Given the description of an element on the screen output the (x, y) to click on. 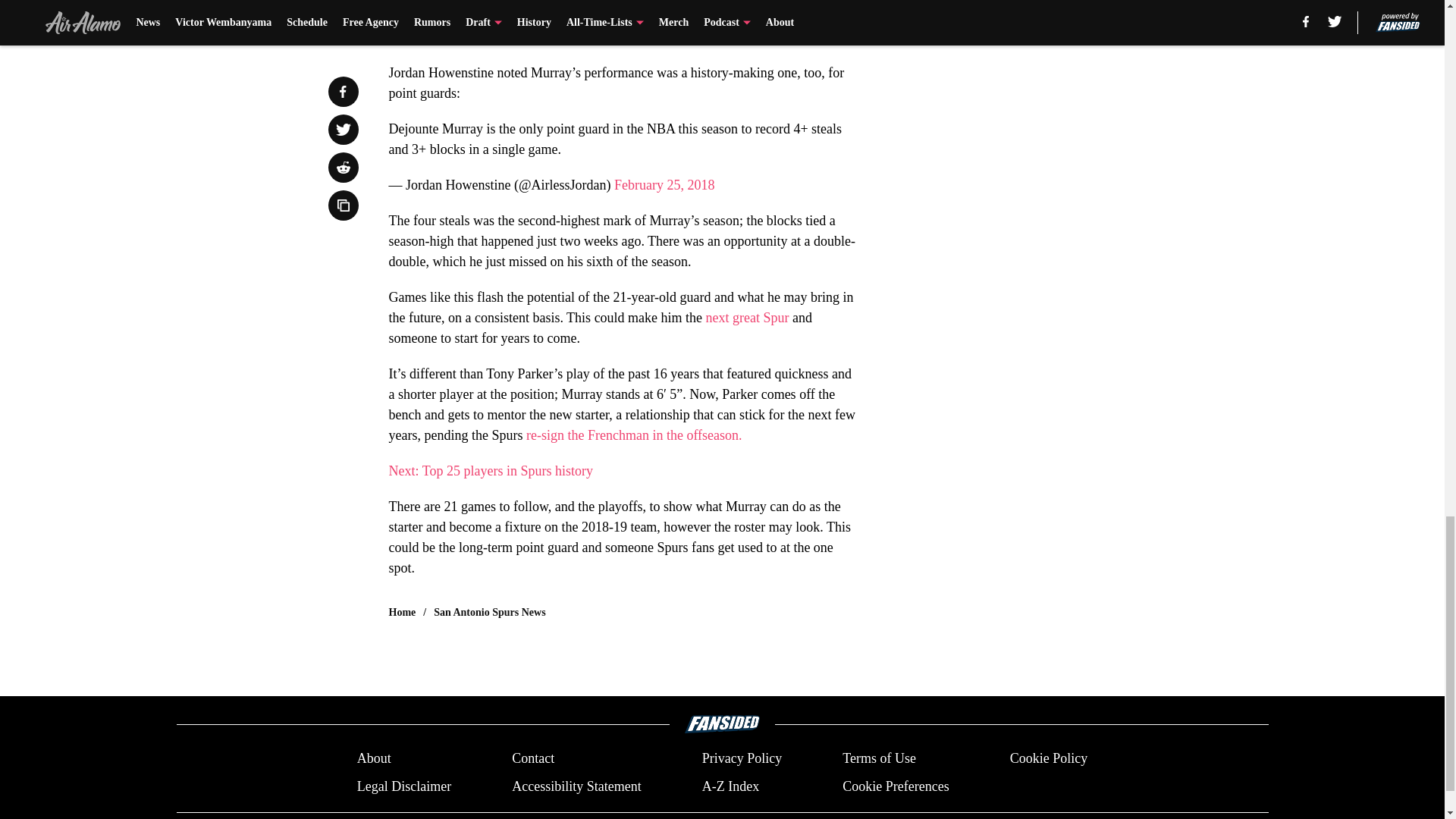
About (373, 758)
February 25, 2018 (664, 184)
Home (401, 612)
Next: Top 25 players in Spurs history (490, 470)
Terms of Use (879, 758)
Cookie Policy (1048, 758)
next great Spur (747, 317)
re-sign the Frenchman in the offseason. (633, 435)
Privacy Policy (742, 758)
San Antonio Spurs News (488, 612)
